Given the description of an element on the screen output the (x, y) to click on. 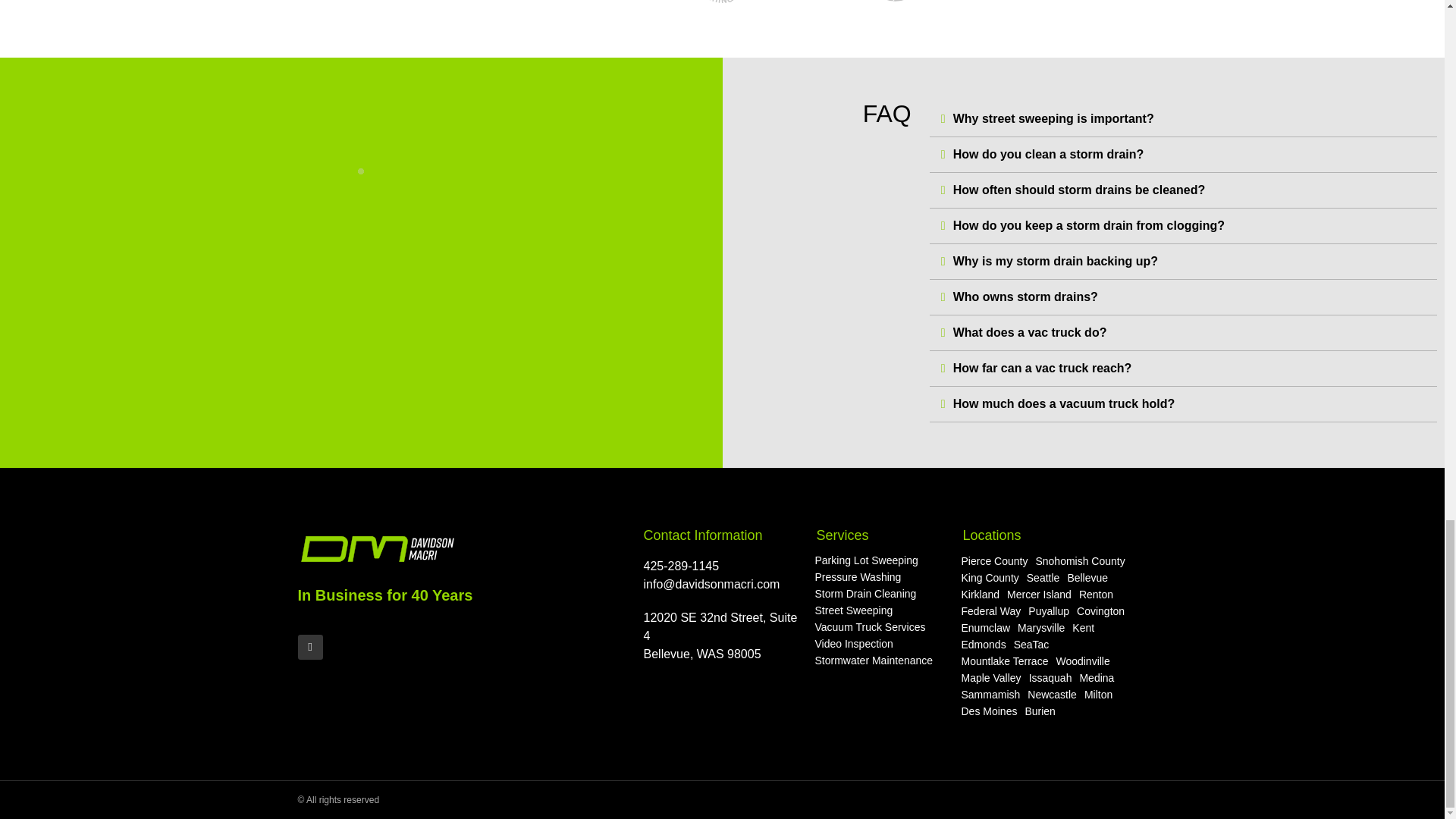
Parking Lot Sweeping (866, 560)
Storm Drain Cleaning (865, 593)
How much does a vacuum truck hold? (1063, 403)
Pierce County (993, 560)
Video Inspection (853, 643)
How do you keep a storm drain from clogging? (1088, 225)
How far can a vac truck reach? (1042, 367)
Why street sweeping is important? (1053, 118)
Why is my storm drain backing up? (1055, 260)
What does a vac truck do? (1029, 332)
